Given the description of an element on the screen output the (x, y) to click on. 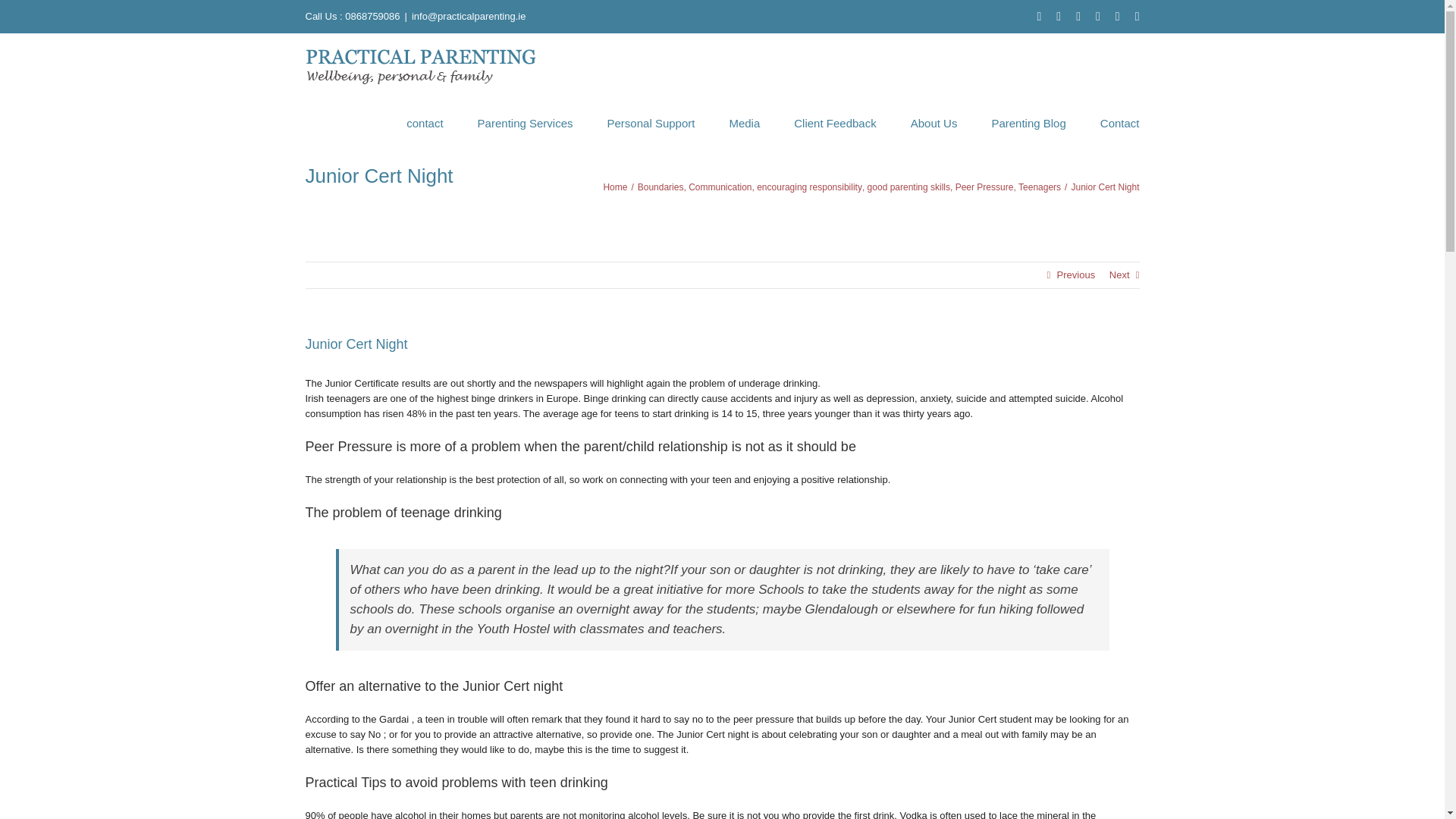
Client Feedback (834, 121)
Parenting Services (525, 121)
Parenting Blog (1028, 121)
Personal Support (651, 121)
